Given the description of an element on the screen output the (x, y) to click on. 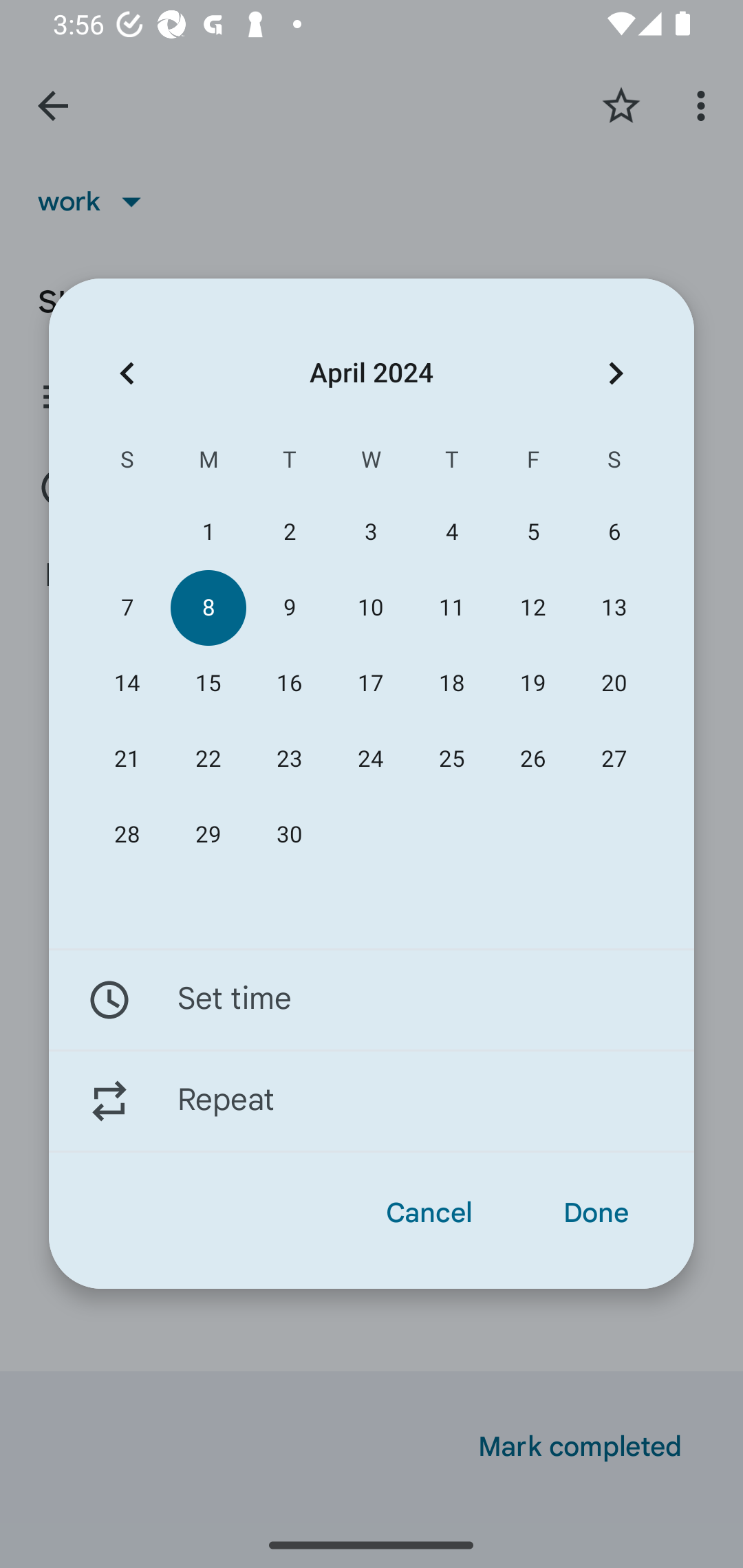
Previous month (126, 372)
Next month (615, 372)
1 01 April 2024 (207, 531)
2 02 April 2024 (288, 531)
3 03 April 2024 (370, 531)
4 04 April 2024 (451, 531)
5 05 April 2024 (532, 531)
6 06 April 2024 (613, 531)
7 07 April 2024 (126, 608)
8 08 April 2024 (207, 608)
9 09 April 2024 (288, 608)
10 10 April 2024 (370, 608)
11 11 April 2024 (451, 608)
12 12 April 2024 (532, 608)
13 13 April 2024 (613, 608)
14 14 April 2024 (126, 683)
15 15 April 2024 (207, 683)
16 16 April 2024 (288, 683)
17 17 April 2024 (370, 683)
18 18 April 2024 (451, 683)
19 19 April 2024 (532, 683)
20 20 April 2024 (613, 683)
21 21 April 2024 (126, 758)
22 22 April 2024 (207, 758)
23 23 April 2024 (288, 758)
24 24 April 2024 (370, 758)
25 25 April 2024 (451, 758)
26 26 April 2024 (532, 758)
27 27 April 2024 (613, 758)
28 28 April 2024 (126, 834)
29 29 April 2024 (207, 834)
30 30 April 2024 (288, 834)
Set time (371, 999)
Repeat (371, 1101)
Cancel (429, 1213)
Done (595, 1213)
